Given the description of an element on the screen output the (x, y) to click on. 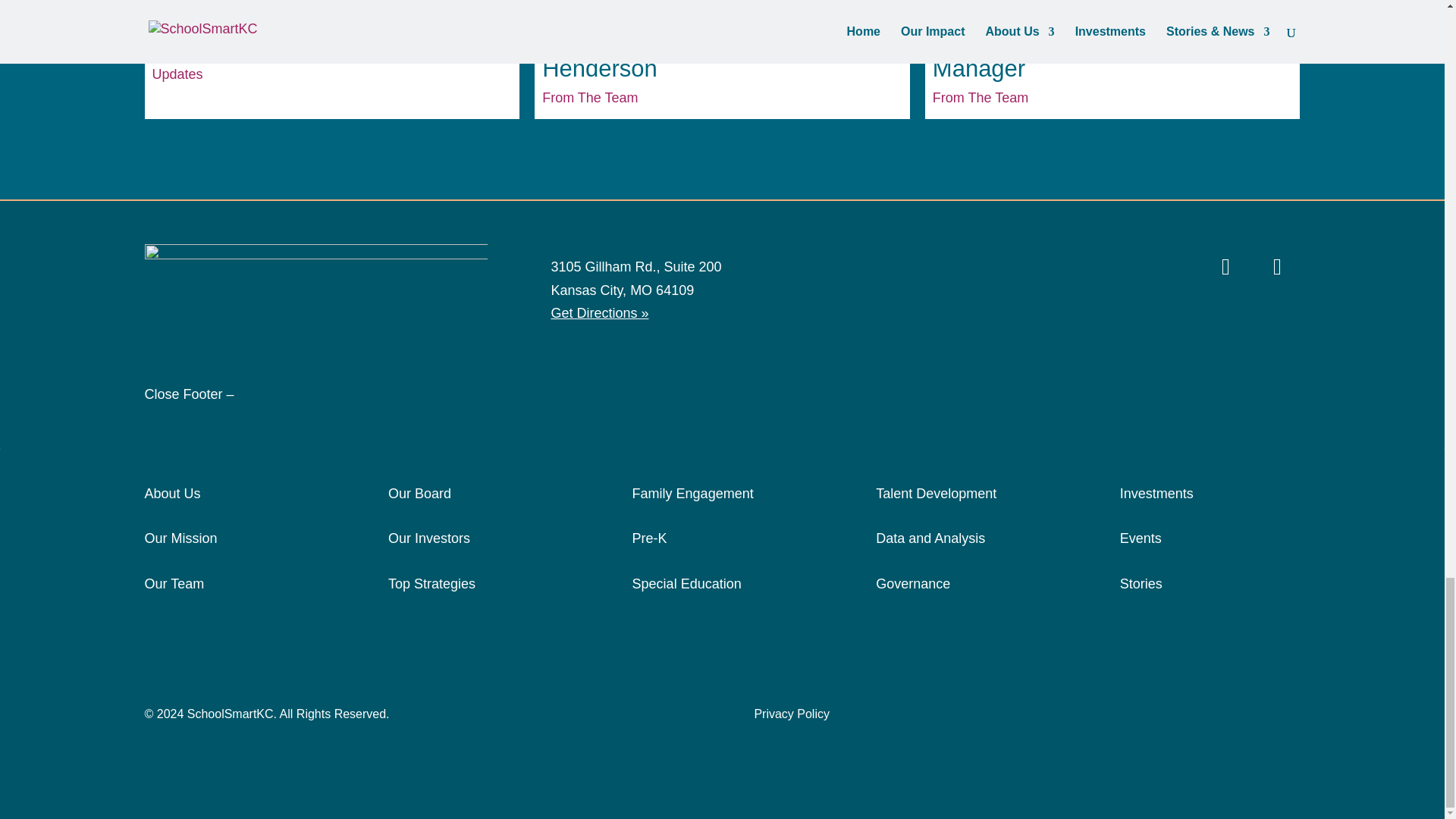
Data and Analysis (930, 538)
Our Team (173, 583)
About Us (172, 493)
Follow on Youtube (1276, 266)
Our Investors (429, 538)
From The Team (589, 97)
Top Strategies (432, 583)
From The Team (980, 97)
Special Education (686, 583)
Our Board (419, 493)
Investments (1156, 493)
Our Mission (180, 538)
Family Engagement (692, 493)
Pre-K (648, 538)
Governance (913, 583)
